Given the description of an element on the screen output the (x, y) to click on. 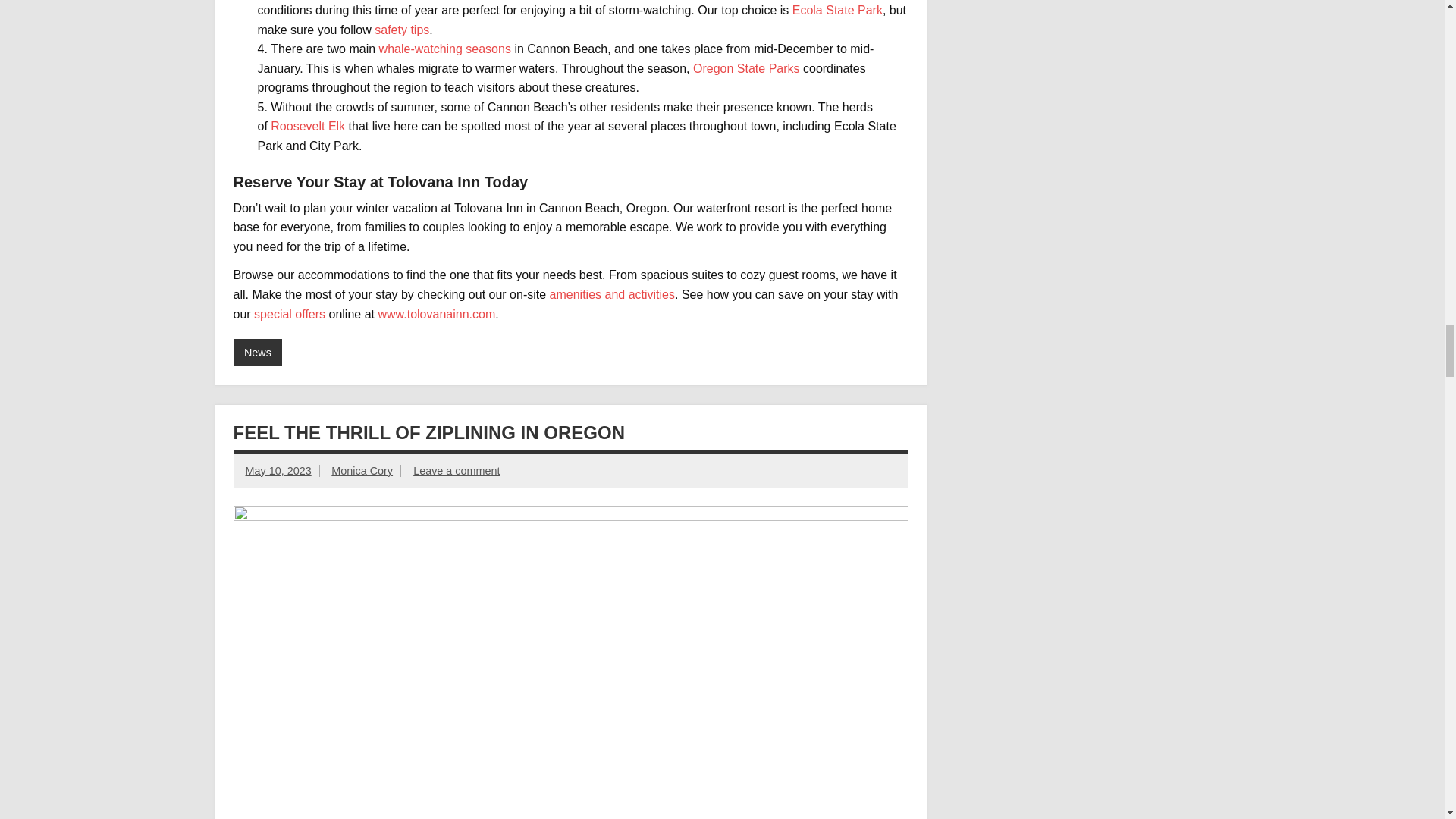
View all posts by Monica Cory (362, 470)
2:37 pm (278, 470)
